Given the description of an element on the screen output the (x, y) to click on. 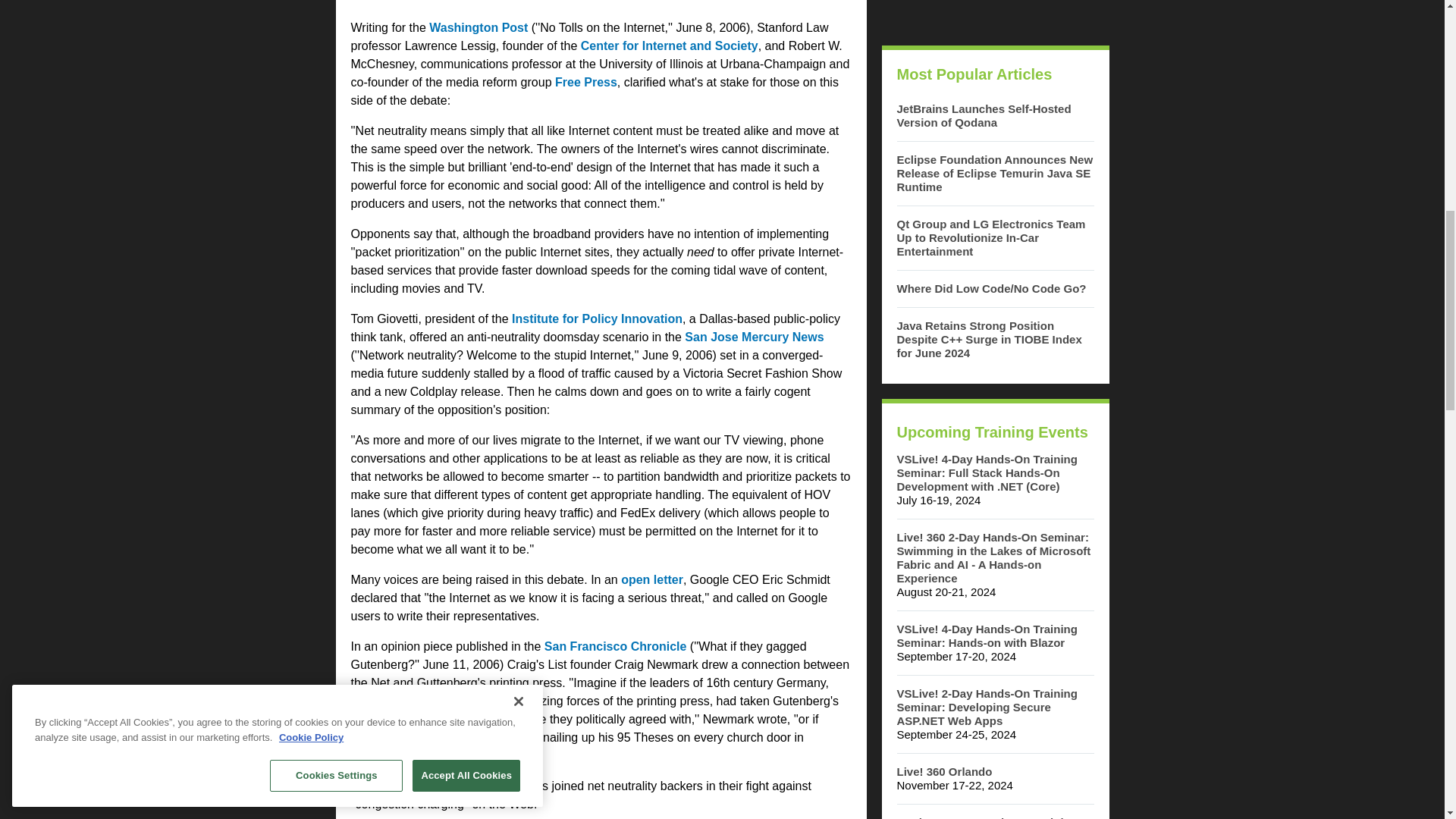
San Jose Mercury News (754, 336)
Washington Post (478, 27)
Free Press (585, 82)
3rd party ad content (600, 3)
3rd party ad content (994, 15)
Center for Internet and Society (669, 45)
San Francisco Chronicle (615, 645)
Institute for Policy Innovation (597, 318)
open letter (651, 579)
